Given the description of an element on the screen output the (x, y) to click on. 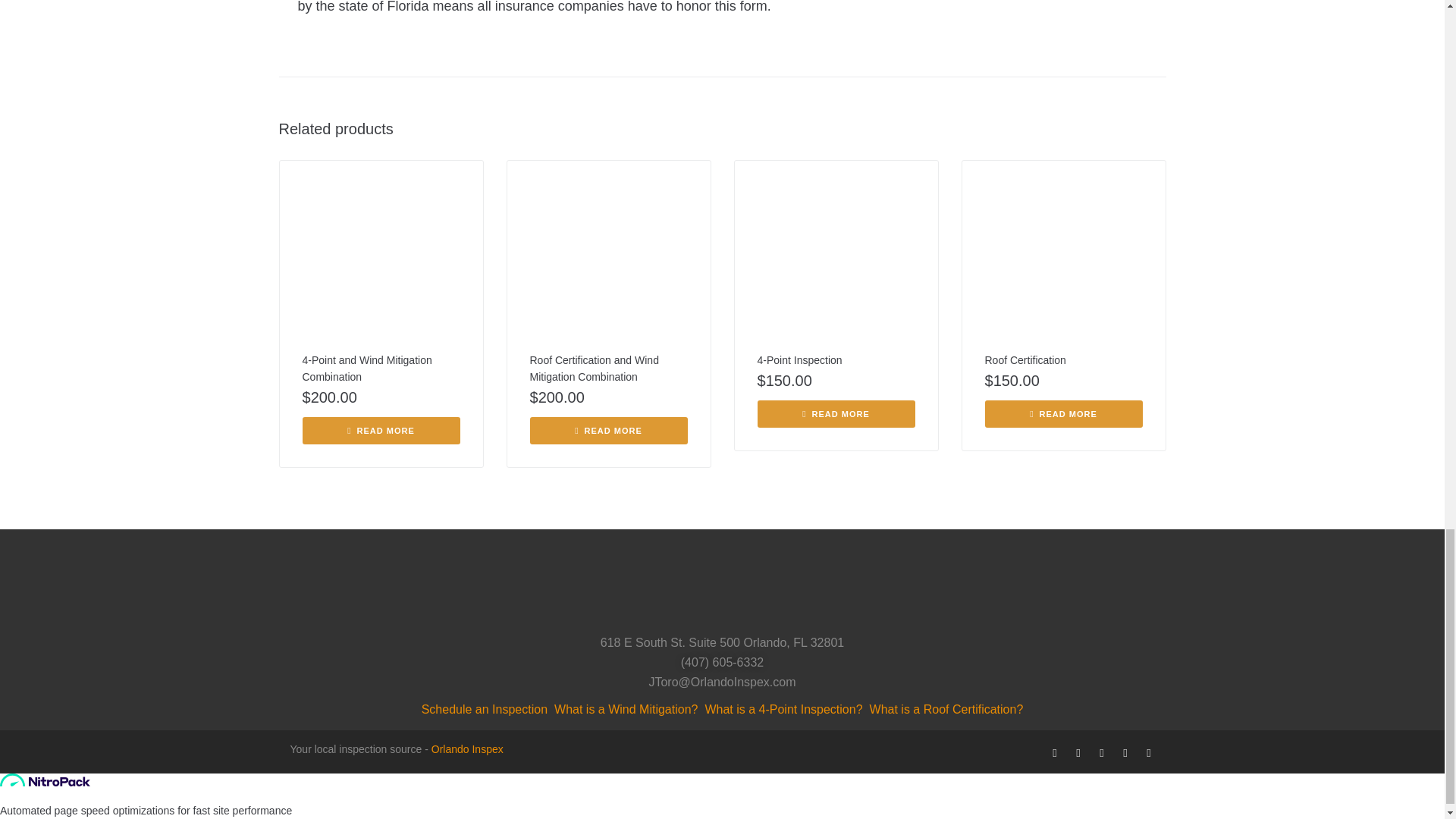
4-Point Inspection (799, 359)
Orlando Inspex (466, 748)
READ MORE (608, 430)
Schedule an Inspection (484, 709)
What is a Wind Mitigation? (625, 709)
4-Point and Wind Mitigation Combination (365, 368)
What is a Roof Certification? (946, 709)
What is a 4-Point Inspection? (782, 709)
Roof Certification and Wind Mitigation Combination (593, 368)
READ MORE (1062, 413)
